Given the description of an element on the screen output the (x, y) to click on. 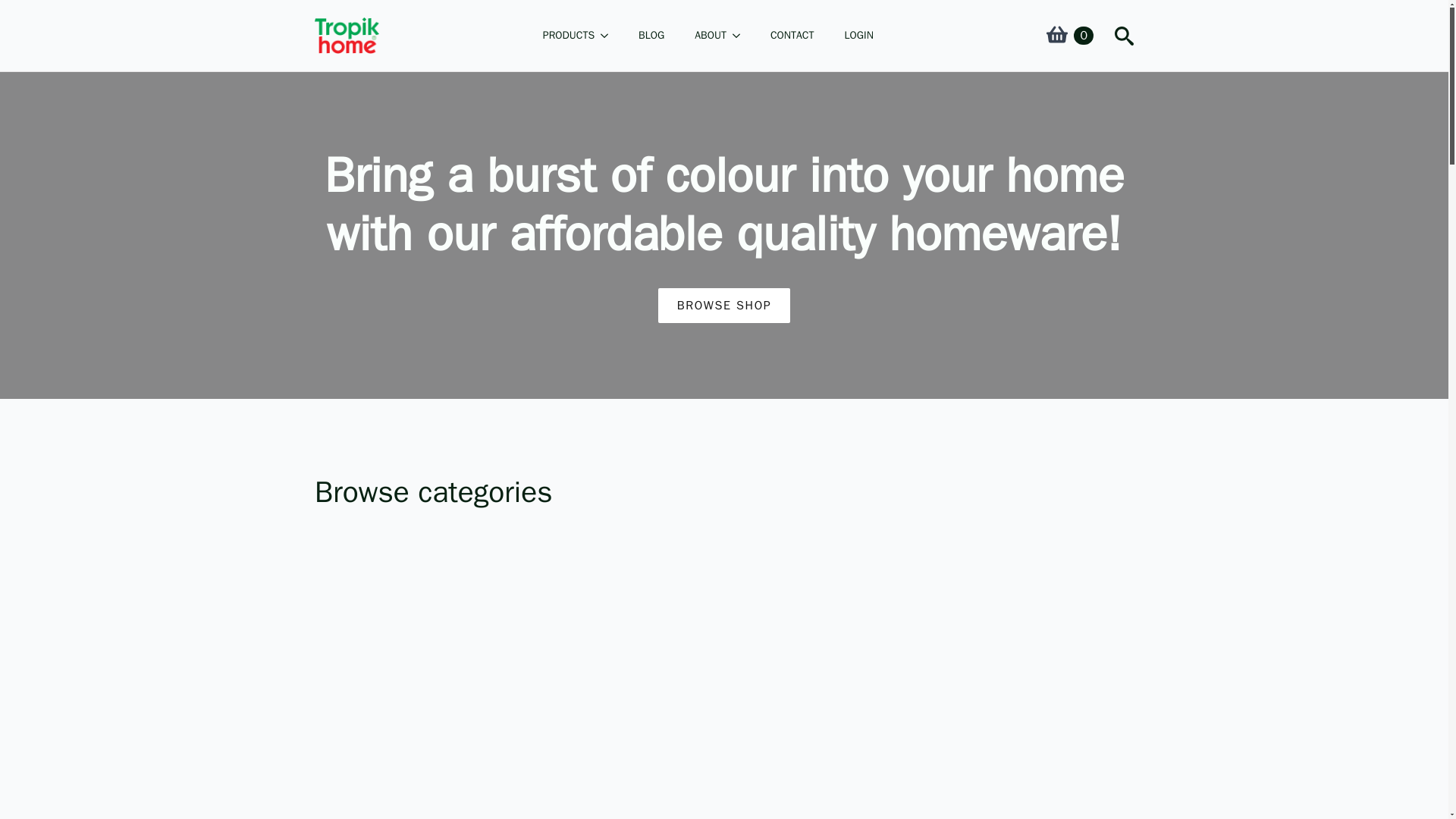
BLOG (651, 35)
ABOUT (702, 35)
PRODUCTS (560, 35)
